Given the description of an element on the screen output the (x, y) to click on. 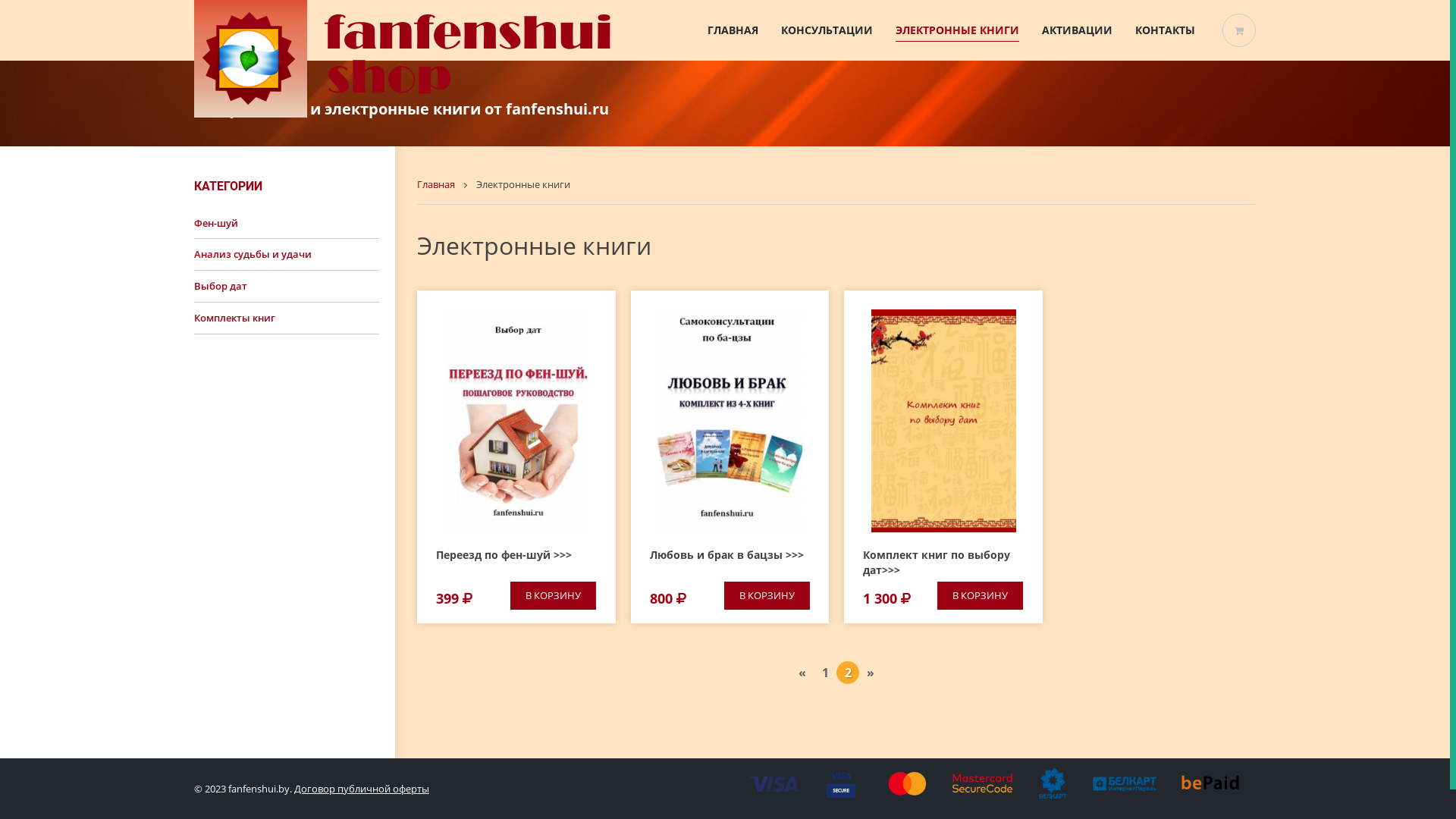
1 Element type: text (824, 672)
2 Element type: text (847, 672)
